Given the description of an element on the screen output the (x, y) to click on. 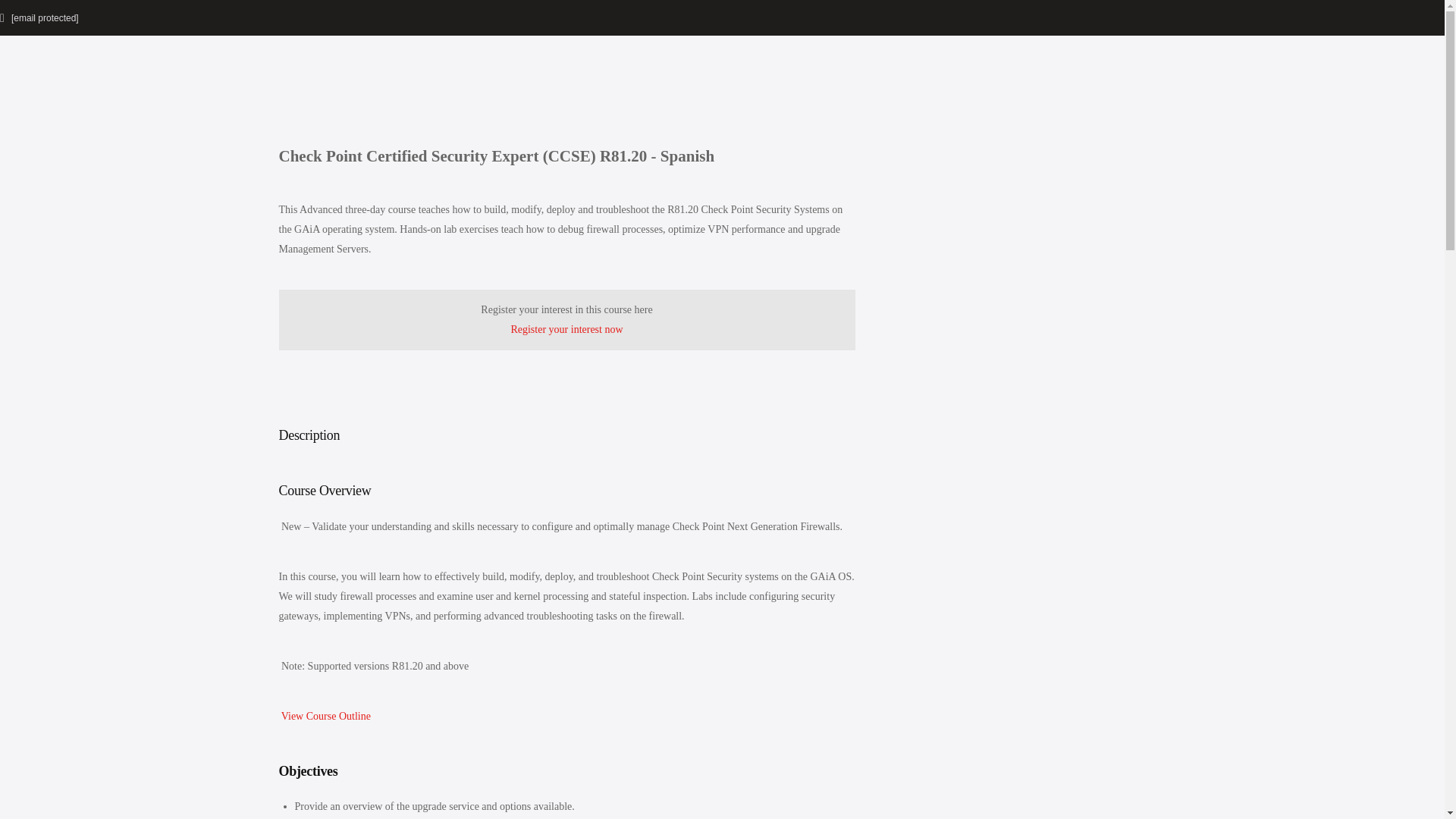
View Course Outline (325, 715)
